Given the description of an element on the screen output the (x, y) to click on. 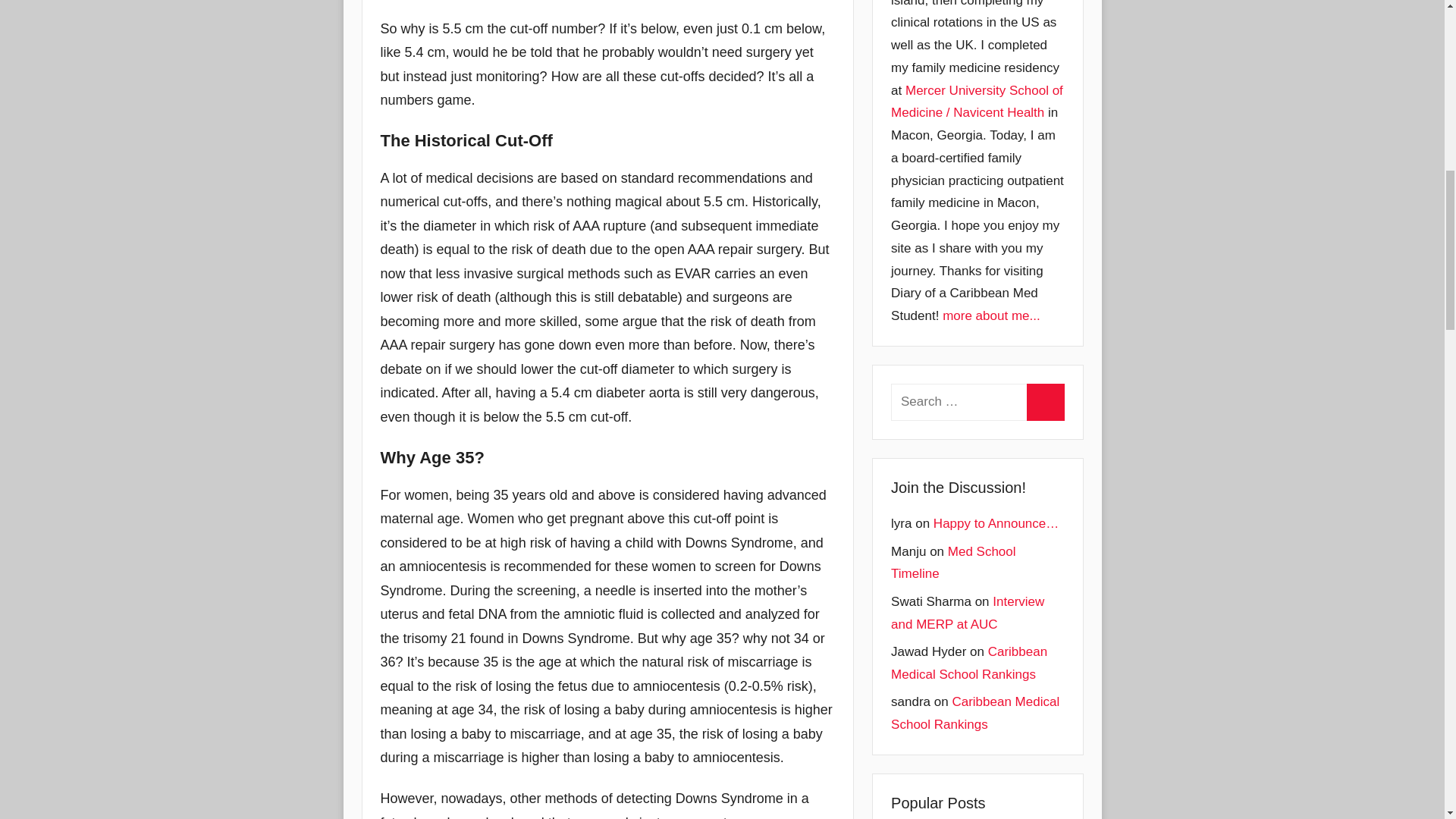
more about me... (991, 315)
Search for: (977, 402)
Med School Timeline (952, 562)
Caribbean Medical School Rankings (975, 713)
Caribbean Medical School Rankings (968, 662)
Interview and MERP at AUC (967, 612)
